Given the description of an element on the screen output the (x, y) to click on. 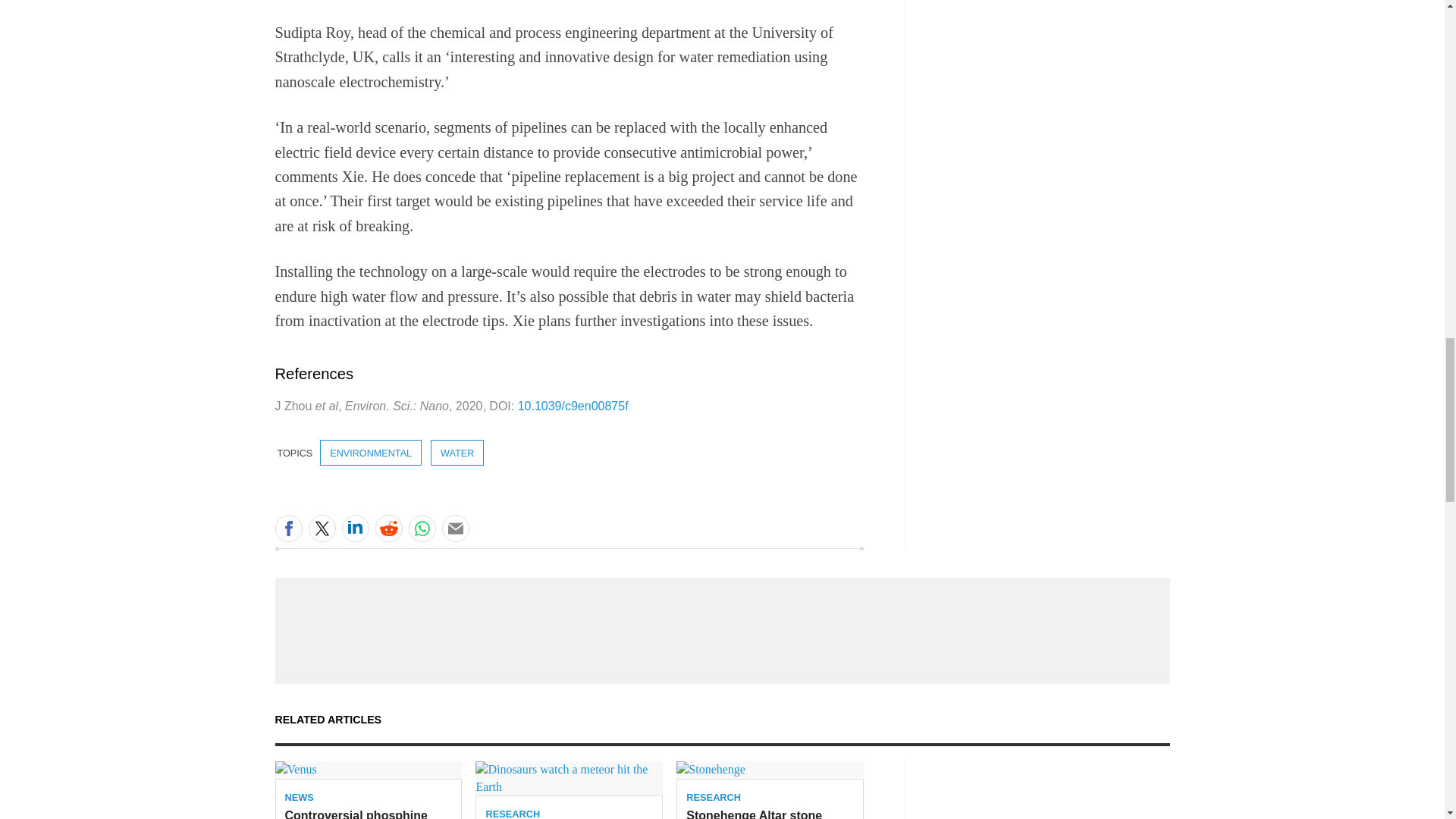
Share this on Reddit (387, 528)
Share this by email (454, 528)
Share this on WhatsApp (421, 528)
Share this on LinkedIn (354, 528)
Share this on Facebook (288, 528)
